Given the description of an element on the screen output the (x, y) to click on. 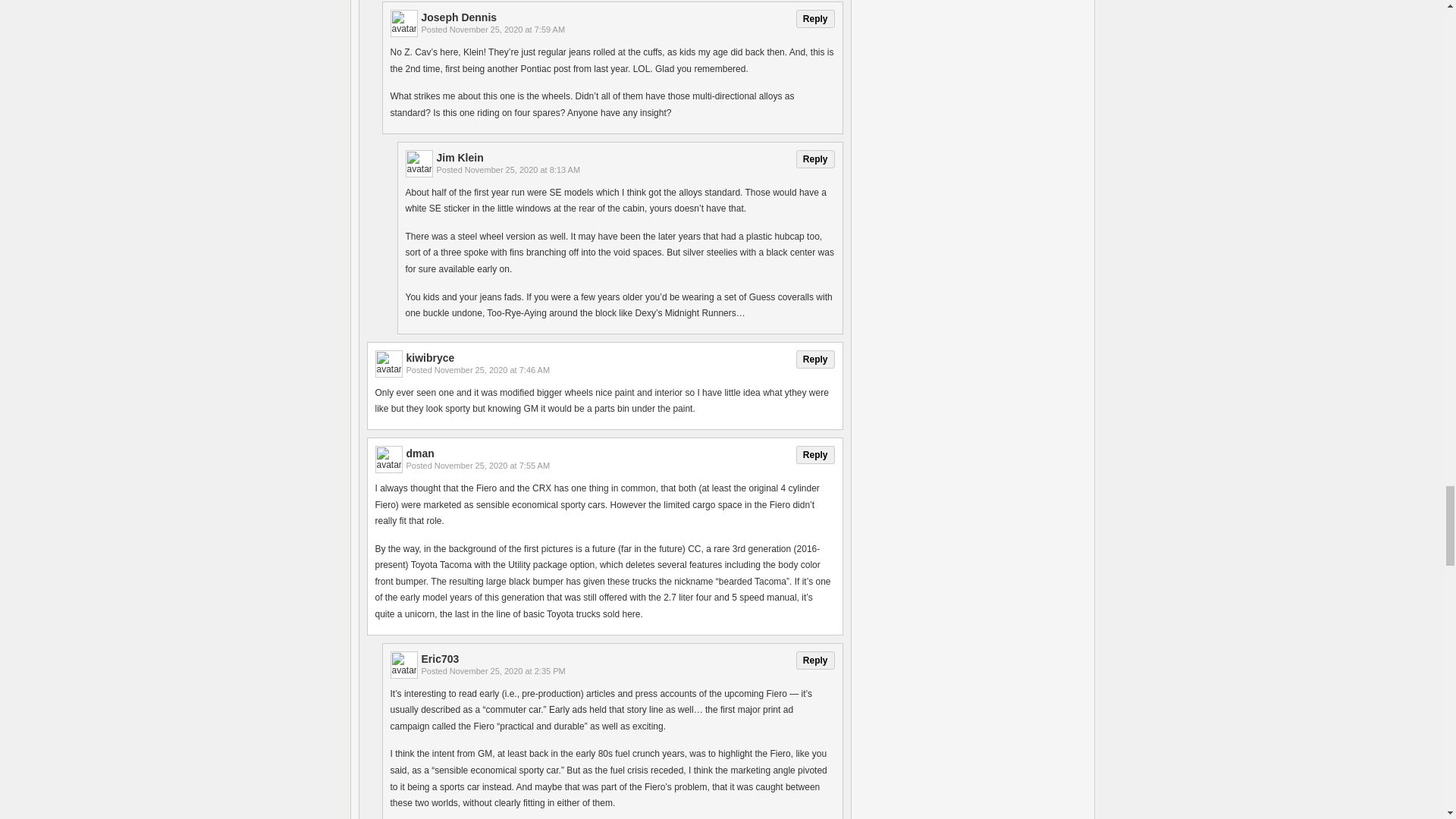
2020-11-25T07:59:16-08:00 (506, 29)
2020-11-25T08:13:14-08:00 (521, 169)
